Given the description of an element on the screen output the (x, y) to click on. 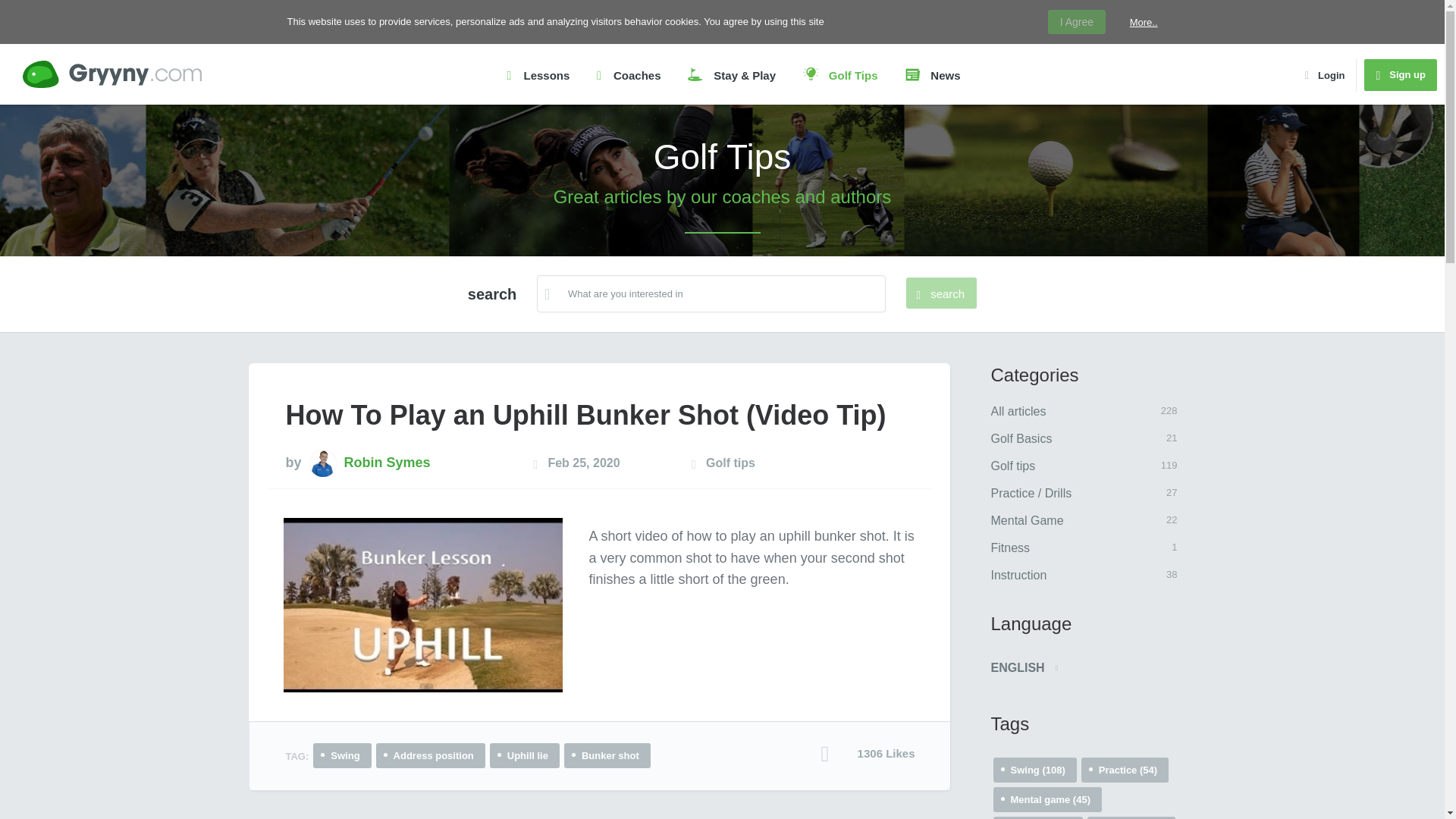
Gryyny.com (112, 74)
search (1092, 466)
More.. (1092, 411)
I Agree (1092, 521)
Login (940, 292)
Sign up (1143, 21)
